Given the description of an element on the screen output the (x, y) to click on. 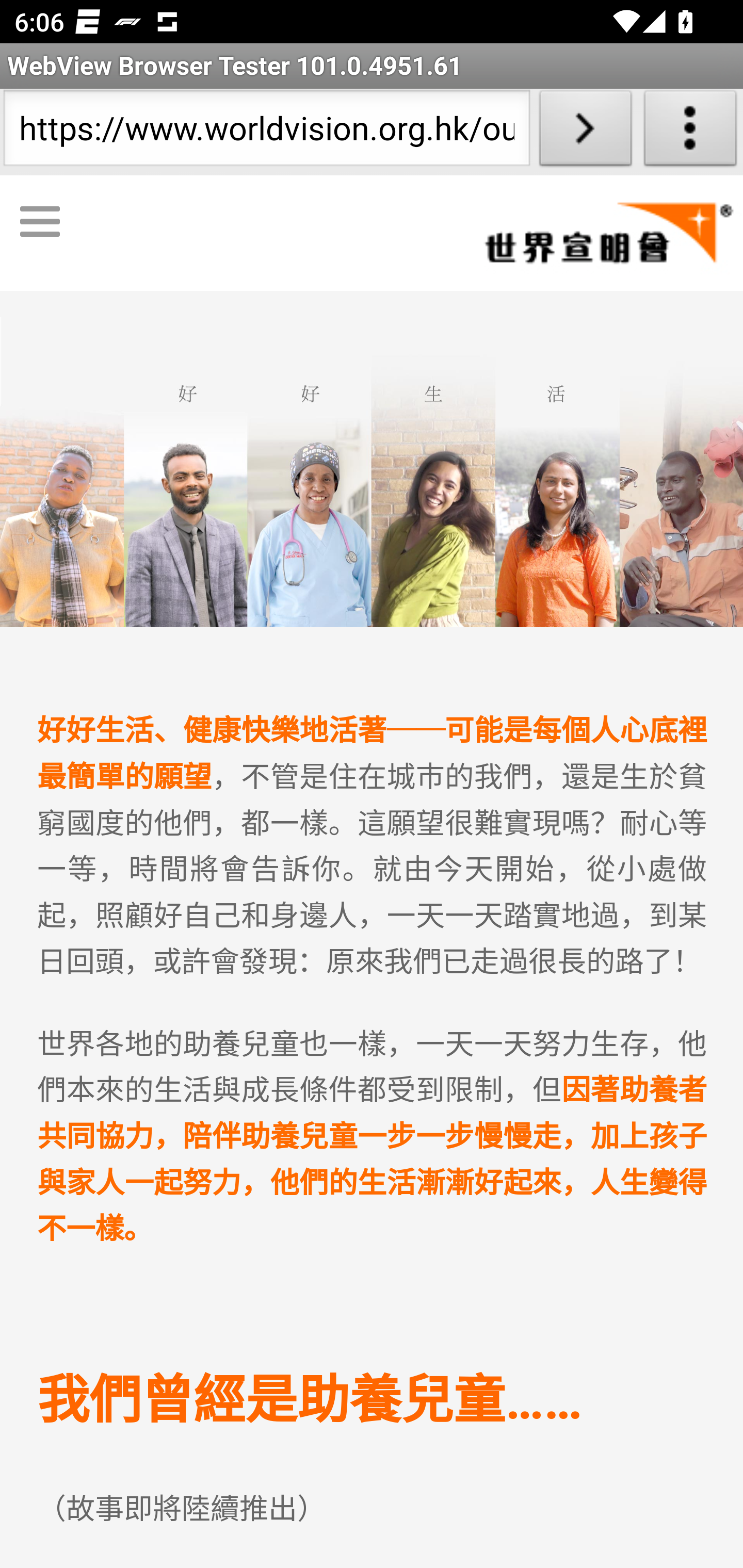
Load URL (585, 132)
About WebView (690, 132)
